Given the description of an element on the screen output the (x, y) to click on. 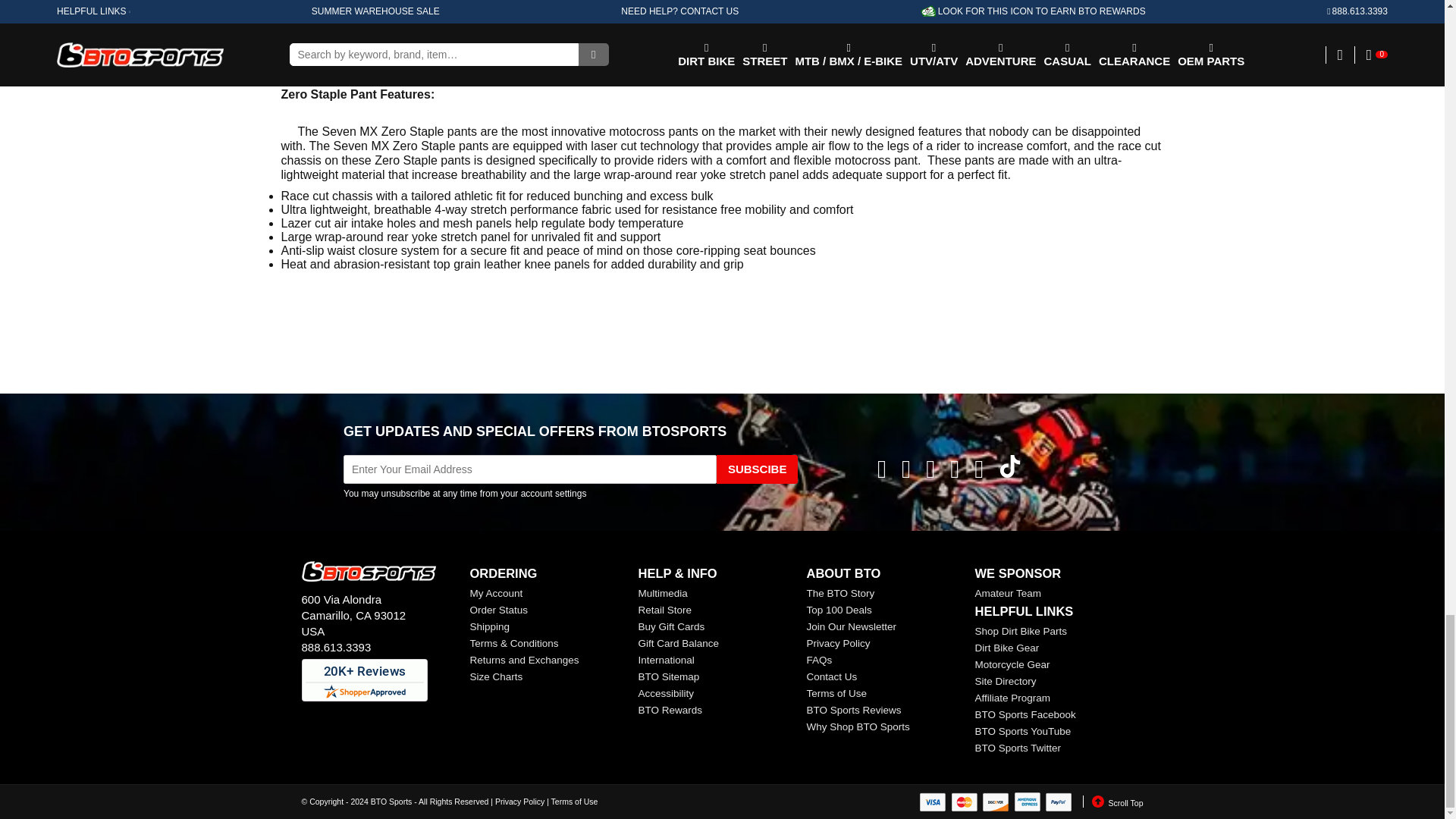
Scroll Top (1112, 801)
